Given the description of an element on the screen output the (x, y) to click on. 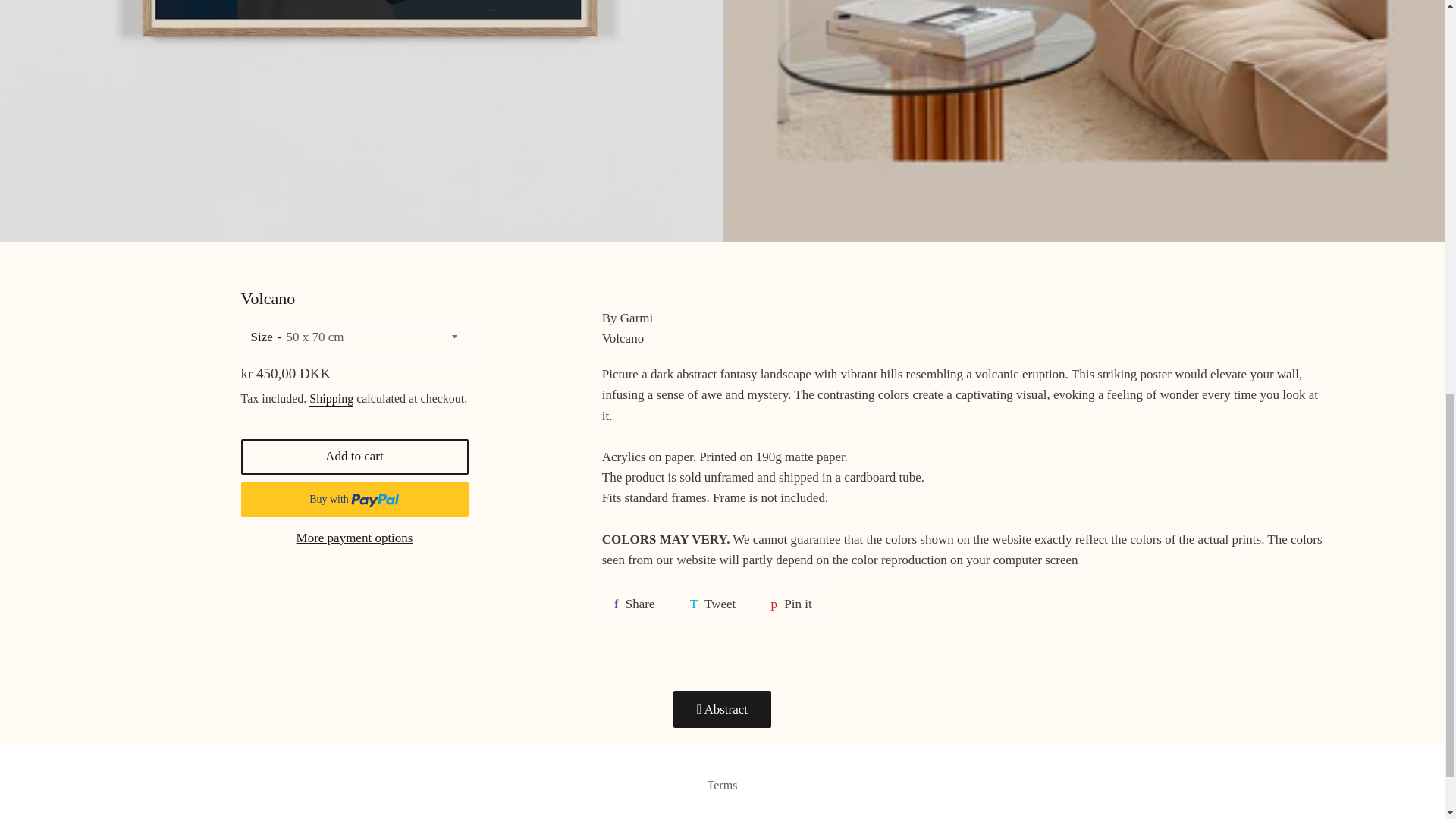
Add to cart (354, 456)
More payment options (354, 537)
Abstract (721, 709)
Pin on Pinterest (791, 603)
Share on Facebook (634, 603)
Tweet on Twitter (713, 603)
Terms (634, 603)
